Given the description of an element on the screen output the (x, y) to click on. 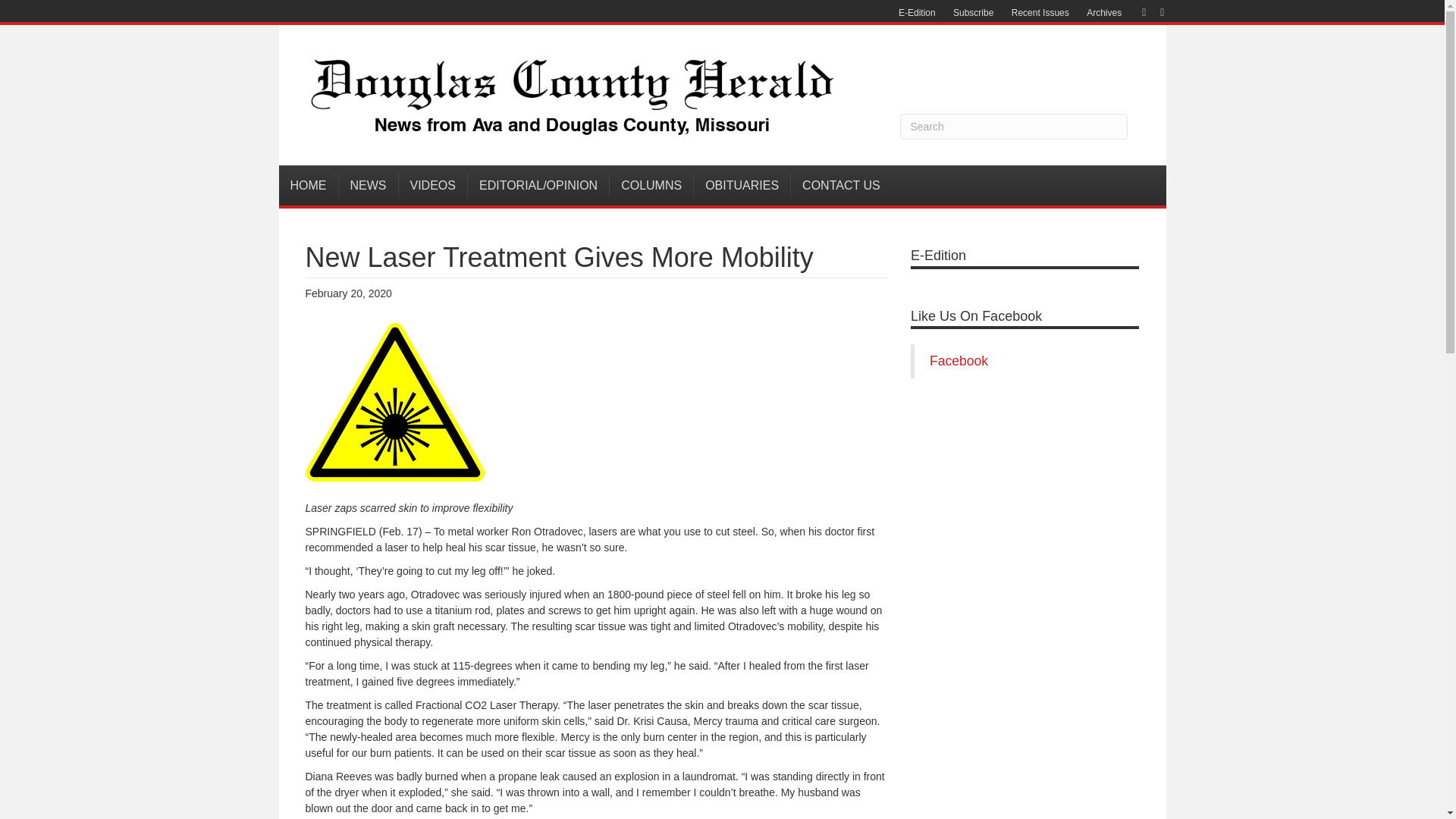
VIDEOS (432, 185)
Type and press Enter to search. (1012, 126)
E-Edition (917, 13)
Recent Issues (1040, 13)
Email (1154, 11)
OBITUARIES (742, 185)
COLUMNS (652, 185)
Facebook (1135, 11)
NEWS (367, 185)
Archives (1103, 13)
